Given the description of an element on the screen output the (x, y) to click on. 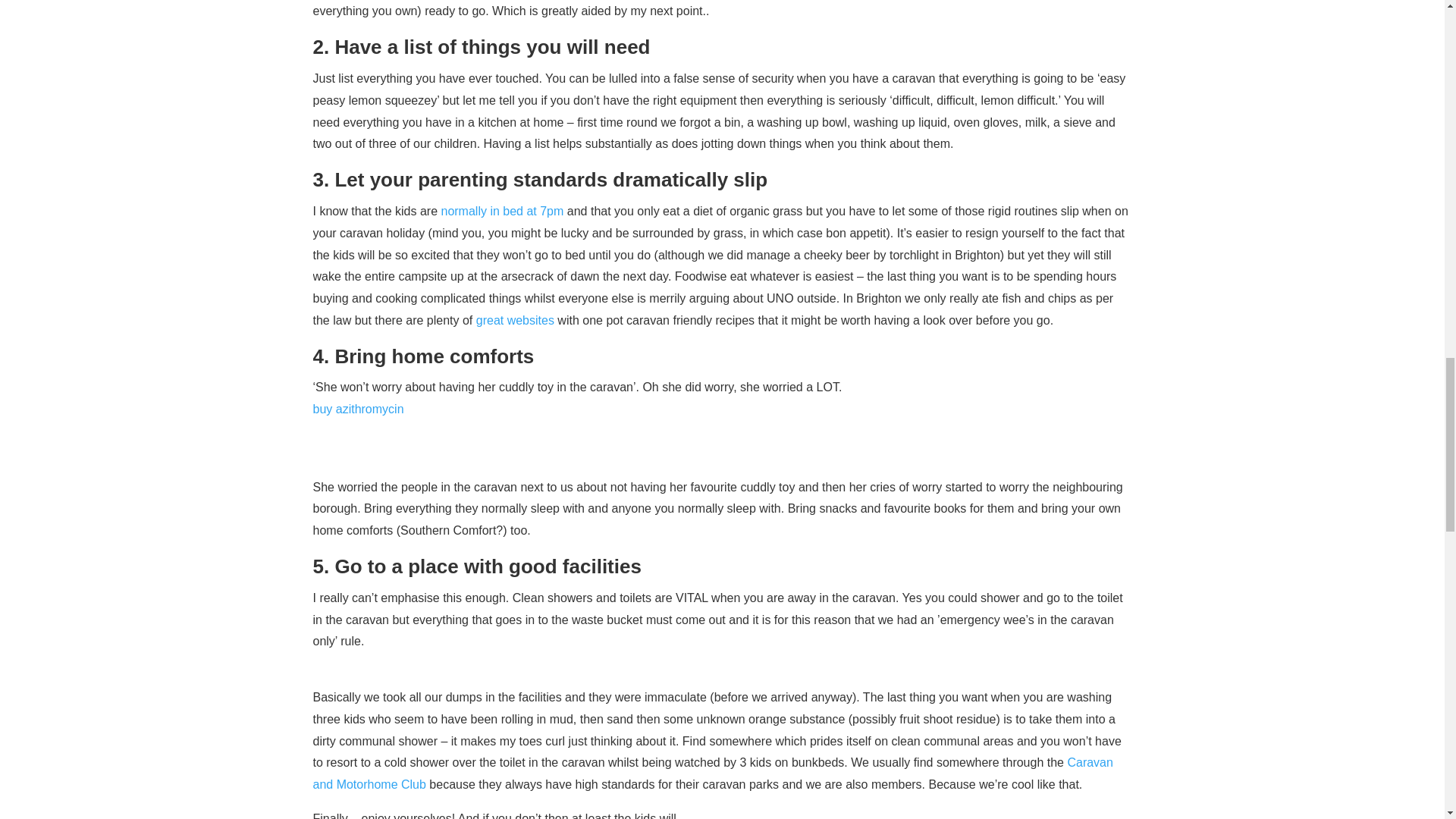
Caravan and Motorhome Club (712, 773)
normally in bed at 7pm (502, 210)
buy azithromycin (358, 408)
great websites (515, 319)
